Given the description of an element on the screen output the (x, y) to click on. 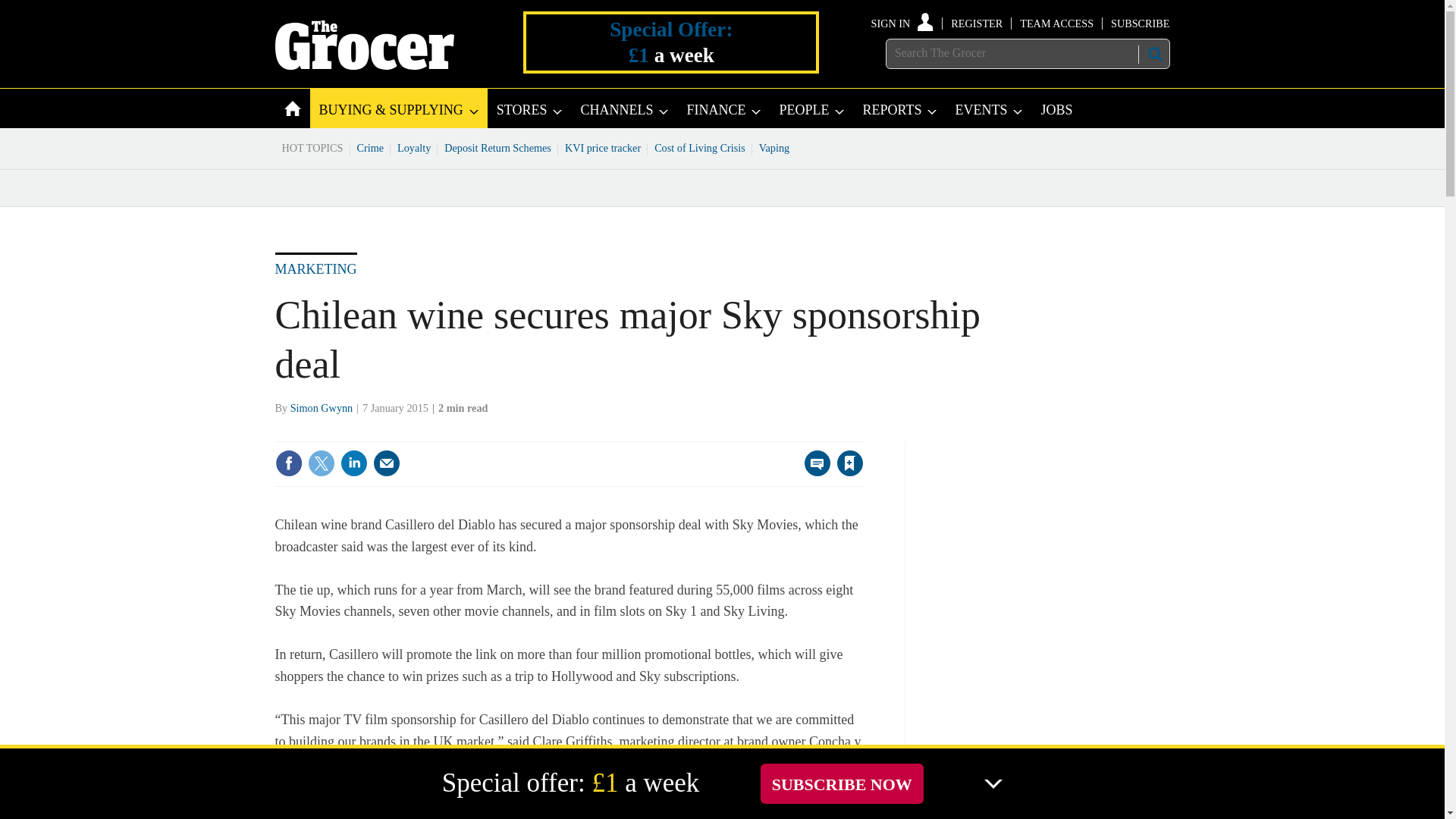
Share this on Twitter (320, 462)
Email this article (386, 462)
TEAM ACCESS (1056, 23)
KVI price tracker (602, 147)
REGISTER (976, 23)
Loyalty (414, 147)
Site name (363, 65)
Share this on Linked in (352, 462)
Crime (370, 147)
Deposit Return Schemes (497, 147)
